Given the description of an element on the screen output the (x, y) to click on. 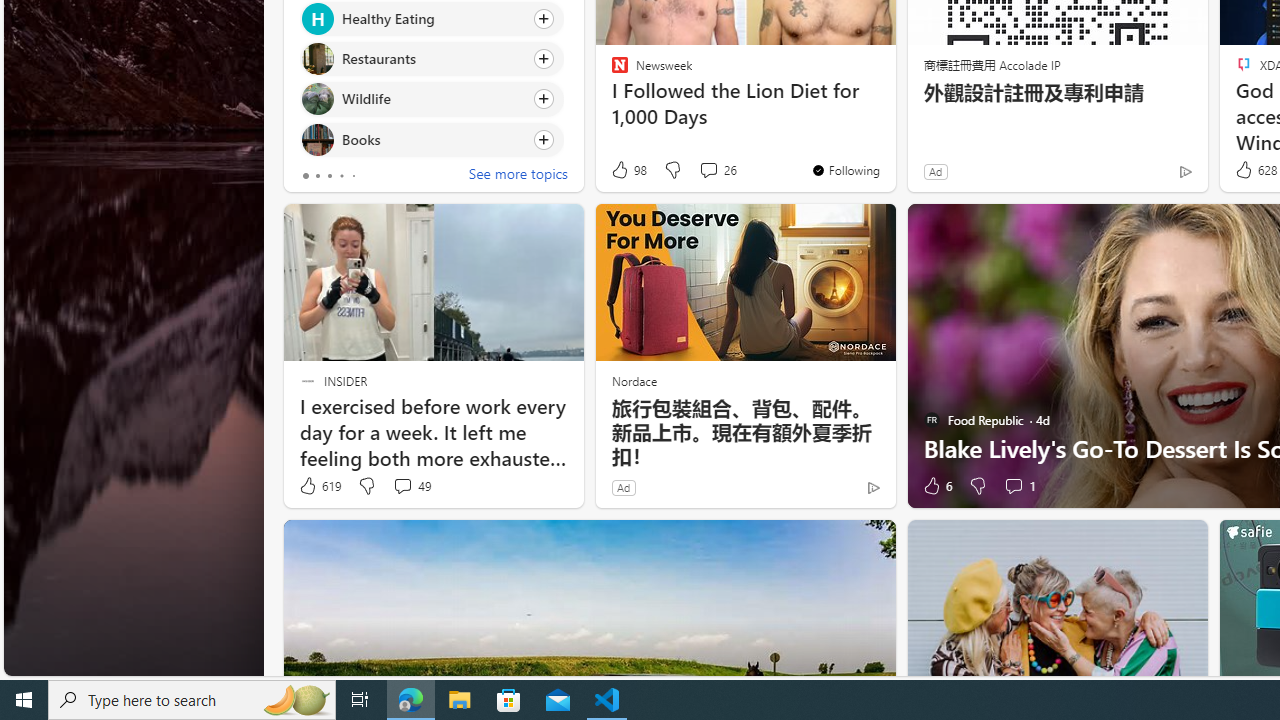
Click to follow topic Healthy Eating (431, 18)
See more topics (518, 175)
98 Like (628, 170)
tab-1 (317, 175)
Click to follow topic Wildlife (431, 99)
You're following Newsweek (845, 169)
Books (317, 139)
View comments 26 Comment (716, 170)
